Given the description of an element on the screen output the (x, y) to click on. 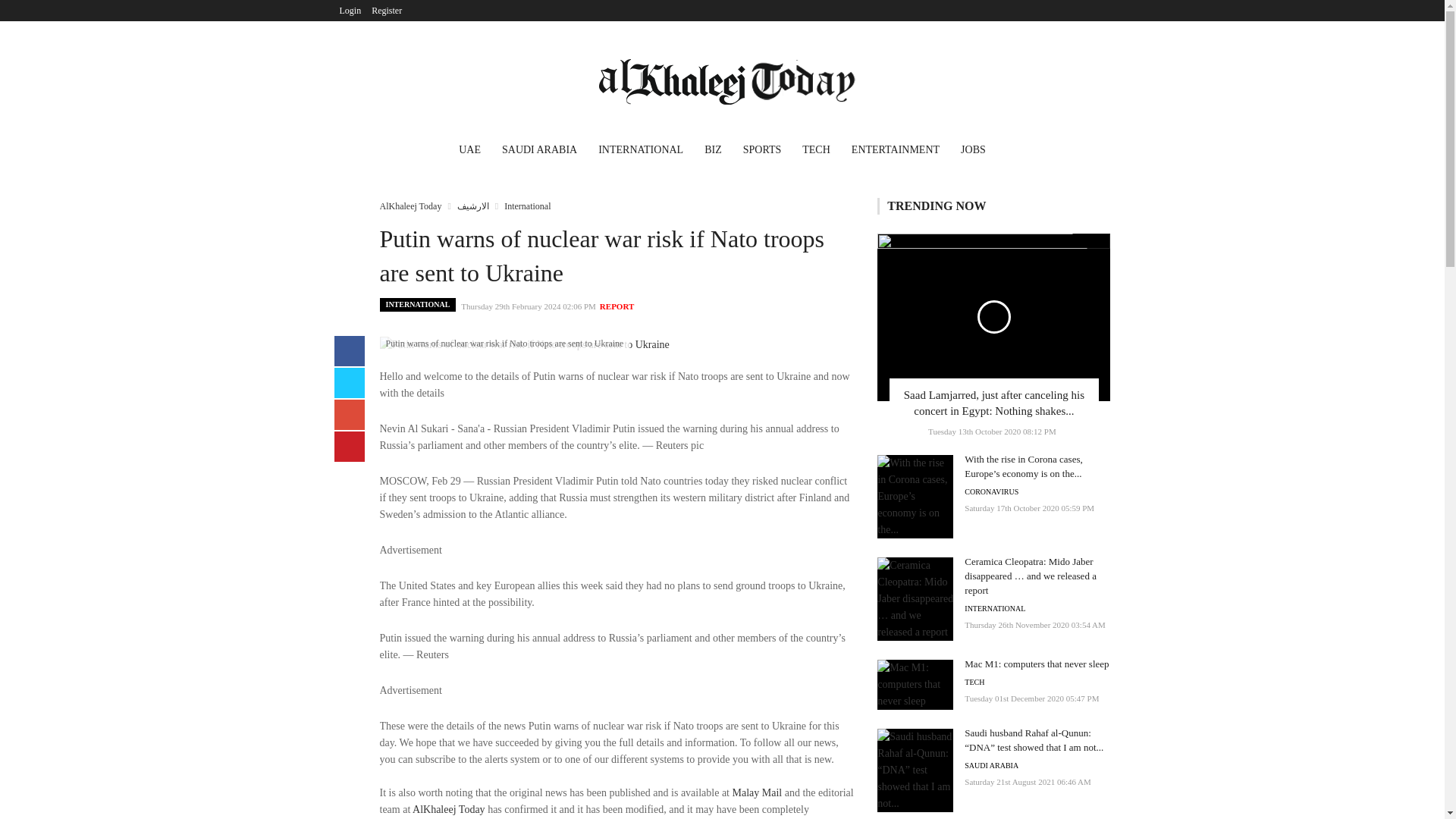
TECH (816, 151)
AlKhaleej Today (409, 205)
SAUDI ARABIA (540, 151)
REPORT (616, 306)
INTERNATIONAL (416, 305)
Malay Mail (757, 792)
BIZ (713, 151)
International (526, 205)
INTERNATIONAL (641, 151)
